Given the description of an element on the screen output the (x, y) to click on. 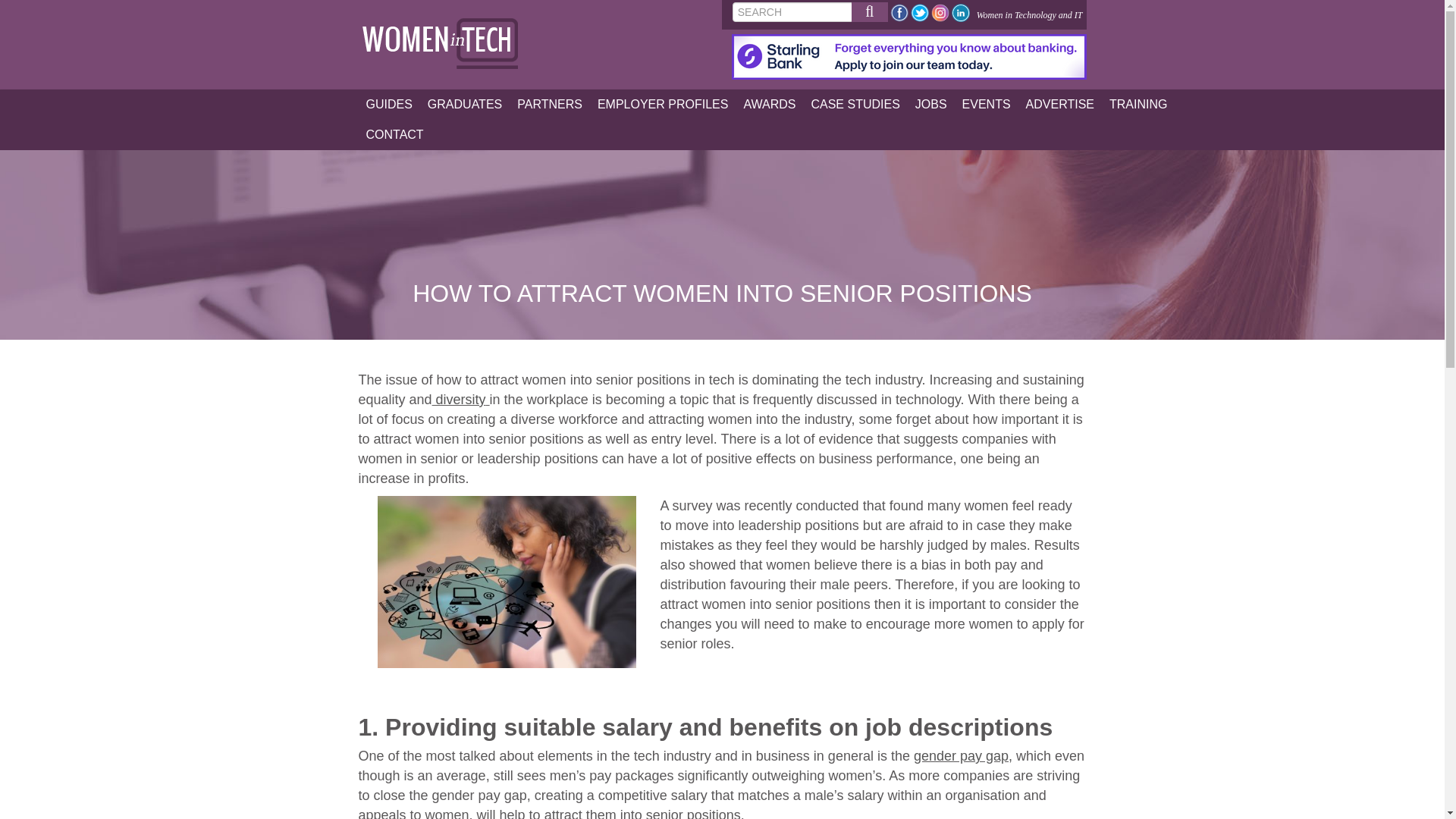
PARTNERS (549, 104)
JOBS (931, 104)
AWARDS (769, 104)
Training (1138, 104)
Employer Profiles (662, 104)
Advertise (1059, 104)
Guides (388, 104)
TRAINING (1138, 104)
Events (986, 104)
EMPLOYER PROFILES (662, 104)
GRADUATES (464, 104)
Case Studies (855, 104)
GUIDES (388, 104)
EVENTS (986, 104)
diversity (459, 399)
